Given the description of an element on the screen output the (x, y) to click on. 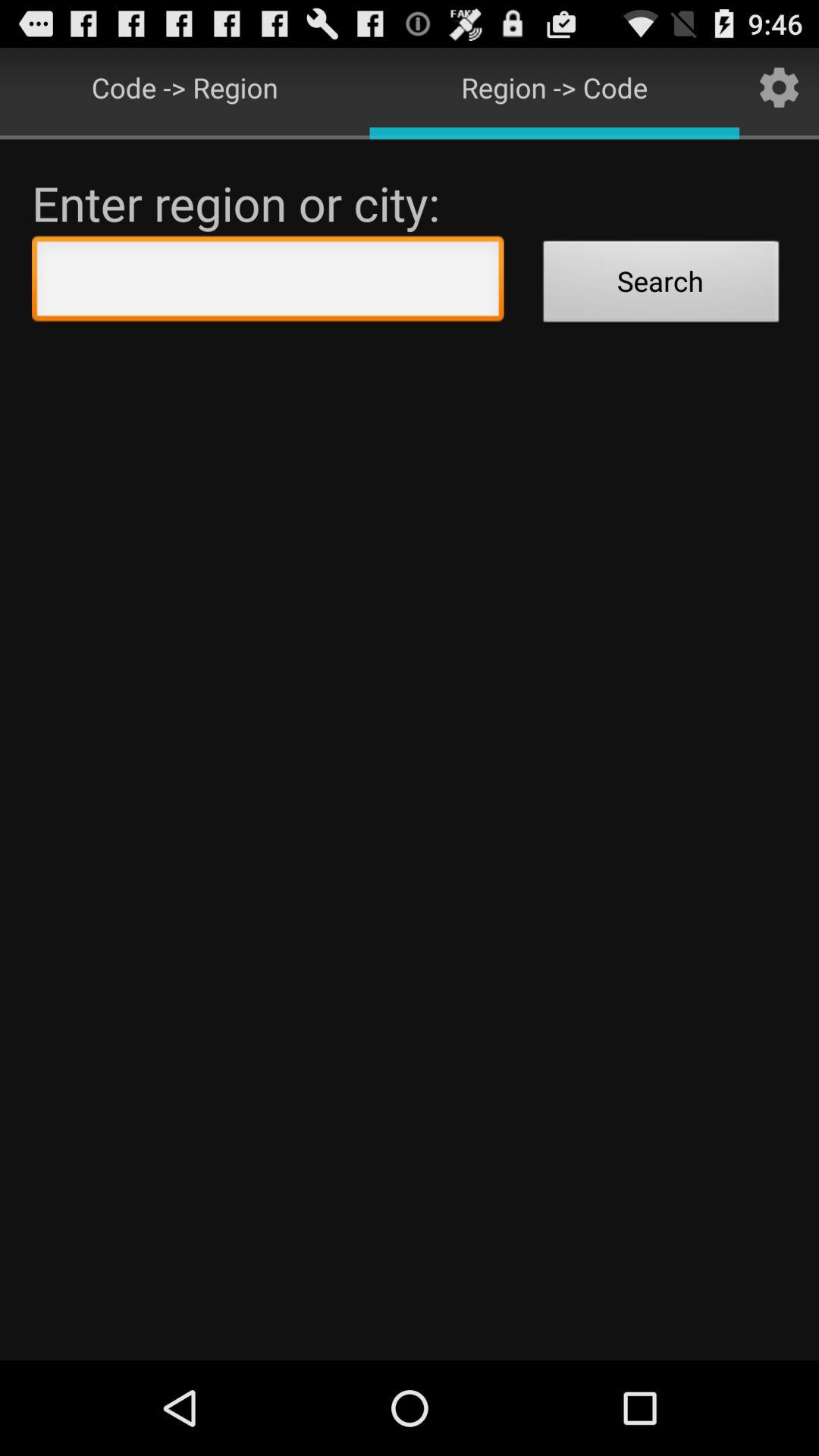
choose the icon below enter region or icon (267, 282)
